Given the description of an element on the screen output the (x, y) to click on. 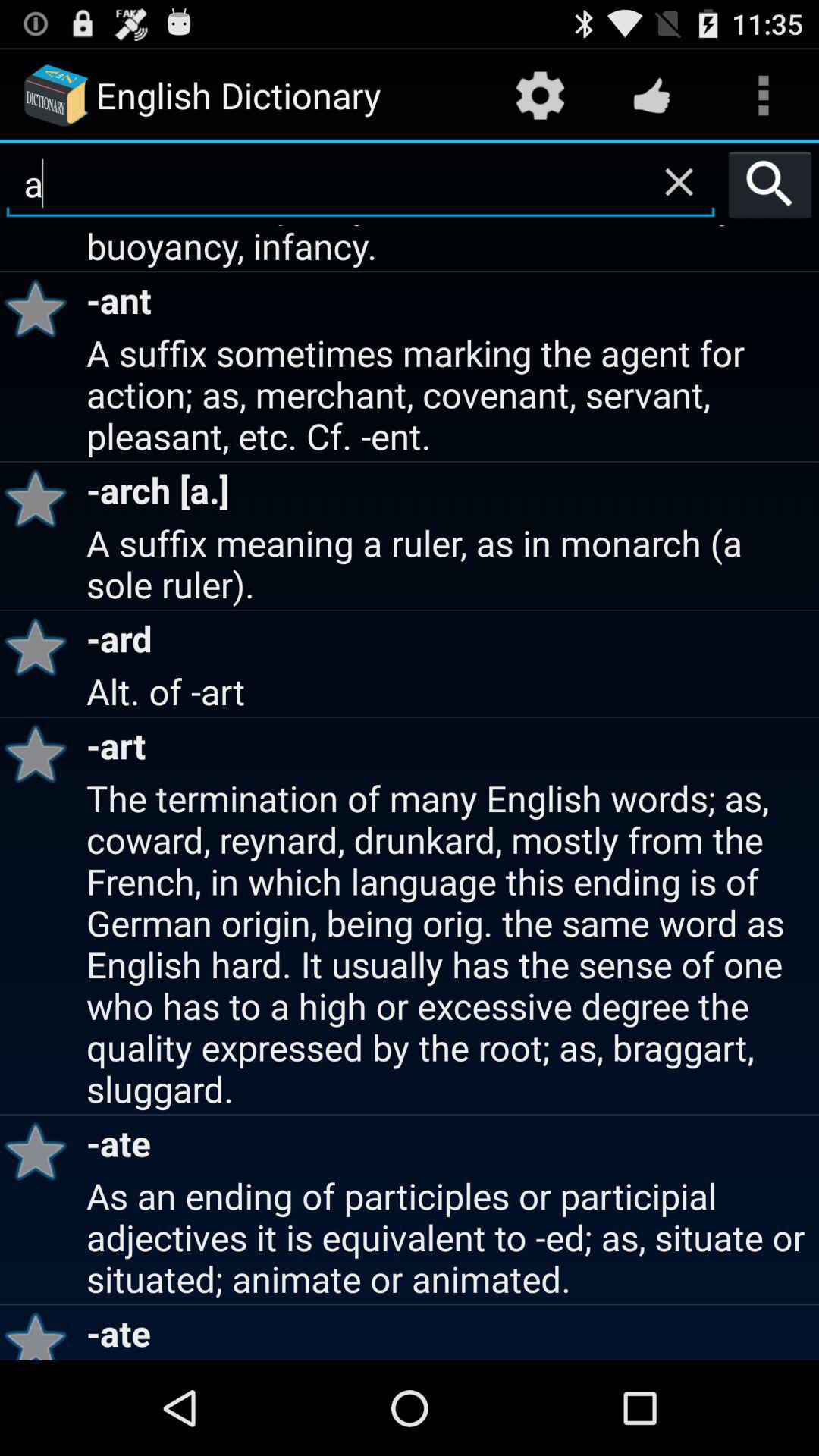
turn off icon below the a suffix meaning icon (41, 646)
